Given the description of an element on the screen output the (x, y) to click on. 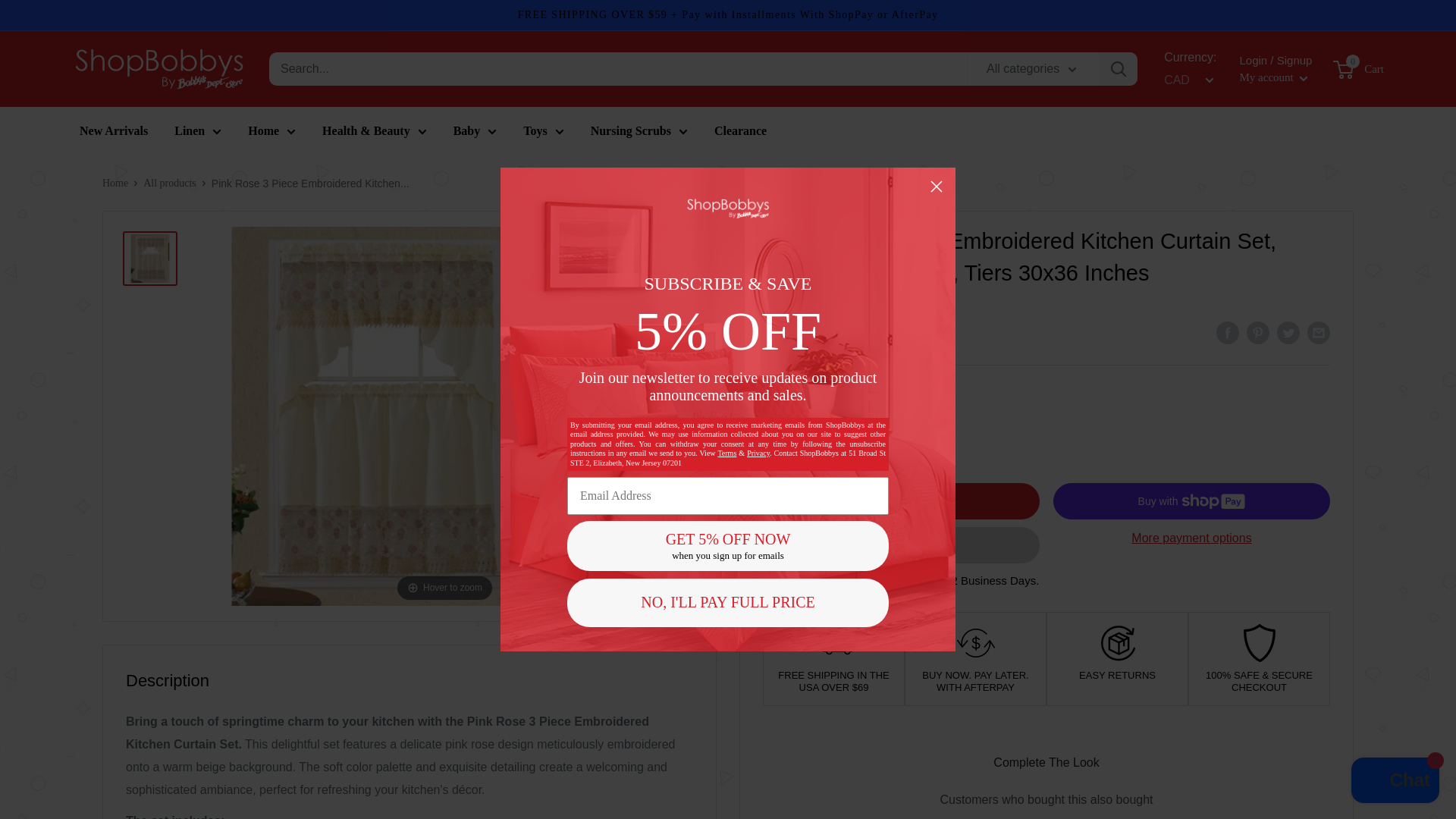
Currency (1186, 79)
